Given the description of an element on the screen output the (x, y) to click on. 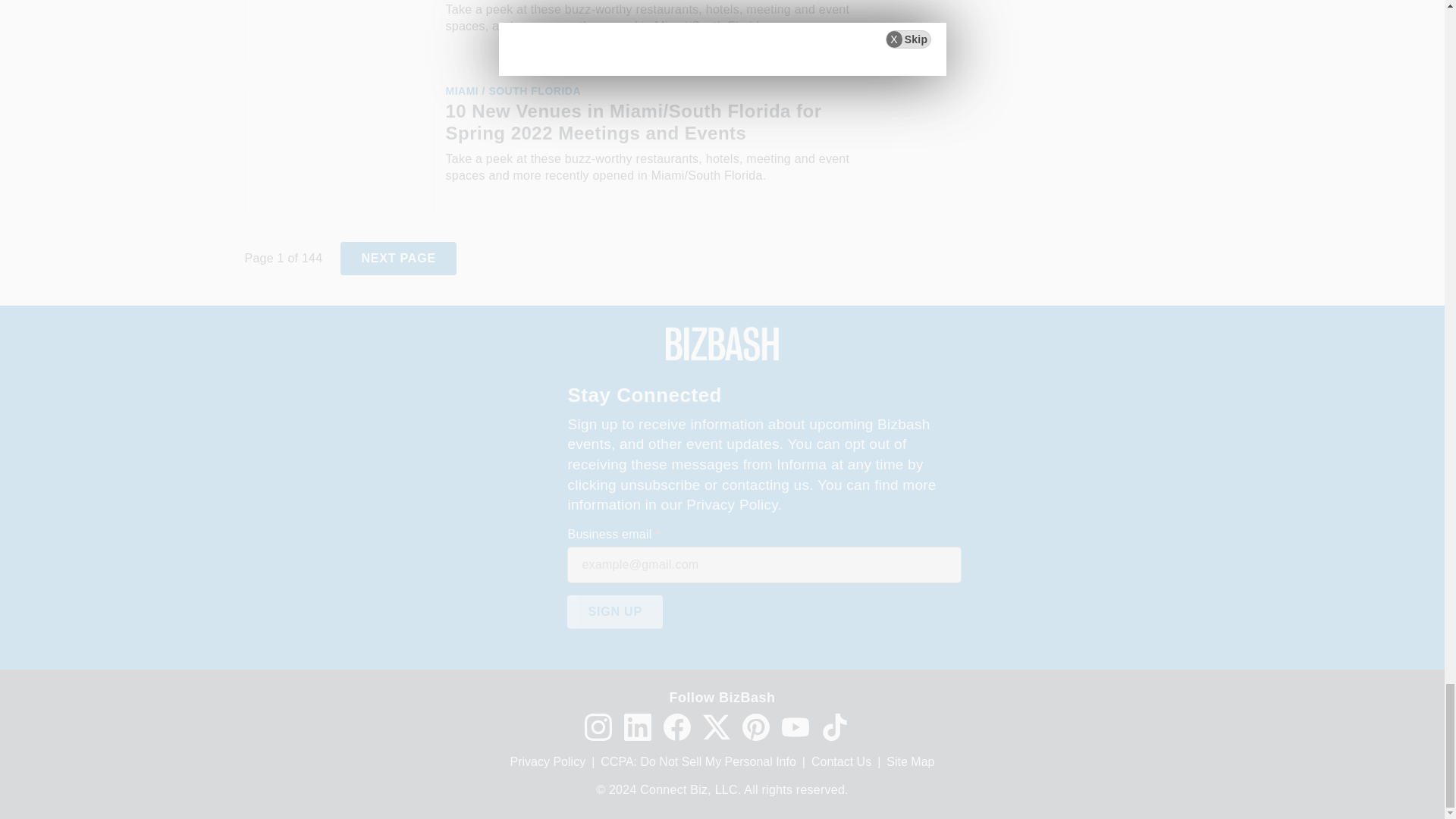
Twitter X icon (715, 727)
YouTube icon (794, 727)
LinkedIn icon (636, 727)
TikTok (834, 727)
Pinterest icon (754, 727)
Instagram icon (597, 727)
Facebook icon (676, 727)
